Given the description of an element on the screen output the (x, y) to click on. 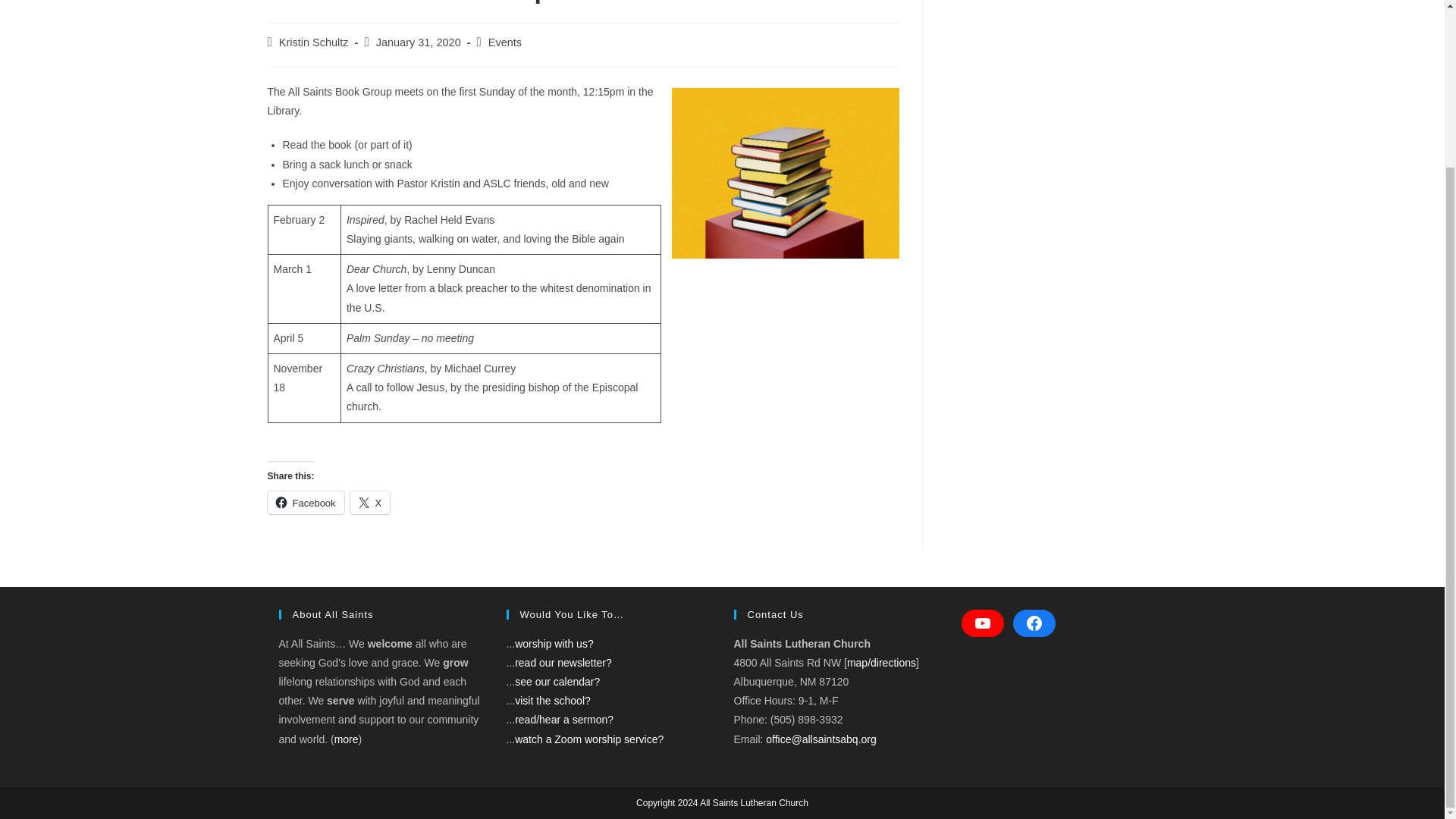
read our newsletter? (563, 662)
Click to share on Facebook (304, 502)
Facebook (304, 502)
more (346, 739)
Events (504, 42)
worship with us? (554, 644)
Kristin Schultz (314, 42)
Posts by Kristin Schultz (314, 42)
X (370, 502)
Click to share on X (370, 502)
